Given the description of an element on the screen output the (x, y) to click on. 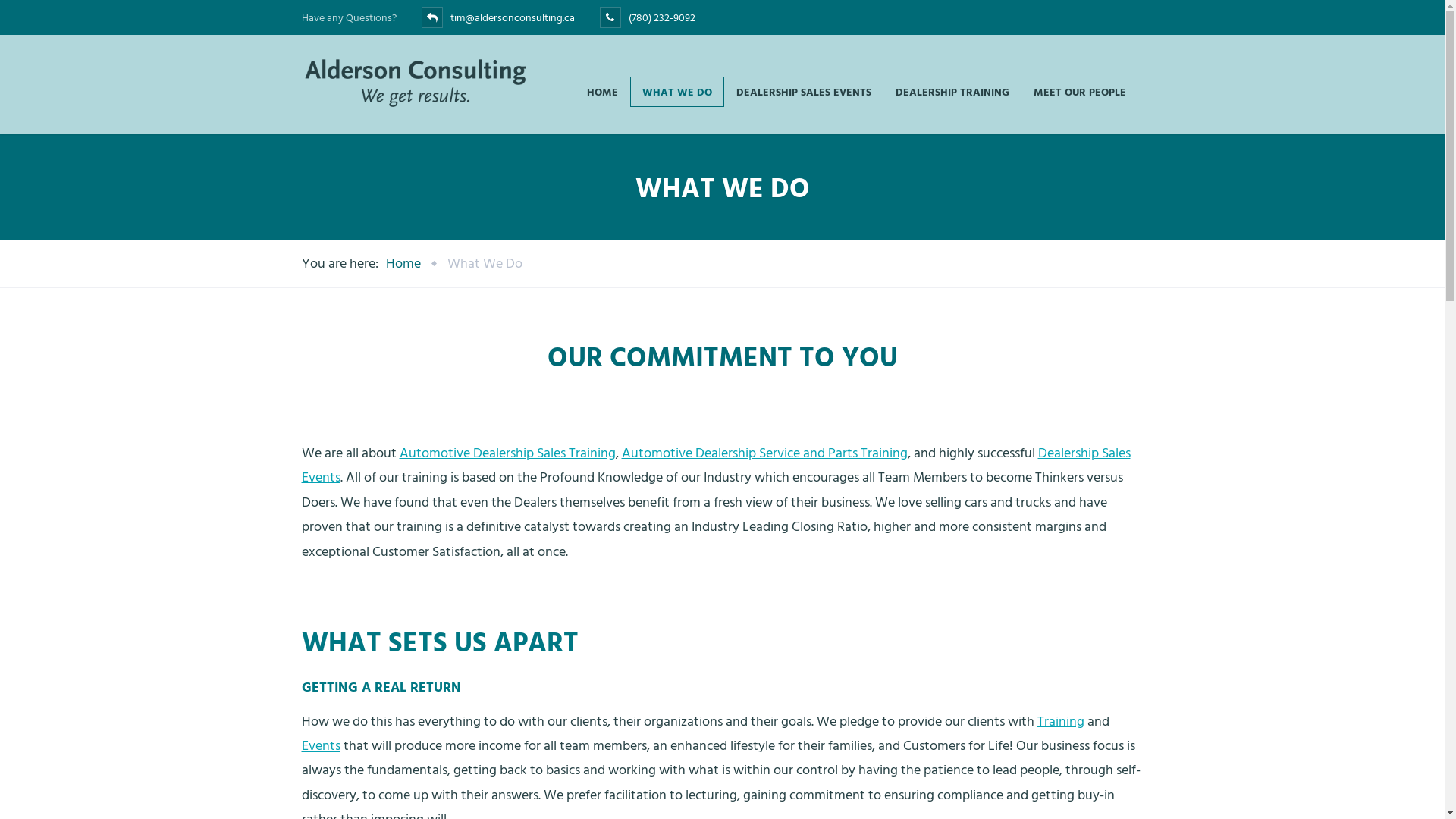
Training Element type: text (1060, 721)
Automotive Dealership Service and Parts Training Element type: text (764, 453)
WHAT WE DO Element type: text (676, 91)
tim@aldersonconsulting.ca Element type: text (512, 17)
(780) 232-9092 Element type: text (660, 17)
MEET OUR PEOPLE Element type: text (1078, 91)
Automotive Dealership Sales Training Element type: text (506, 453)
Dealership Sales Events Element type: text (715, 465)
Events Element type: text (320, 745)
HOME Element type: text (602, 91)
DEALERSHIP SALES EVENTS Element type: text (802, 91)
DEALERSHIP TRAINING Element type: text (951, 91)
Home Element type: text (402, 263)
